Given the description of an element on the screen output the (x, y) to click on. 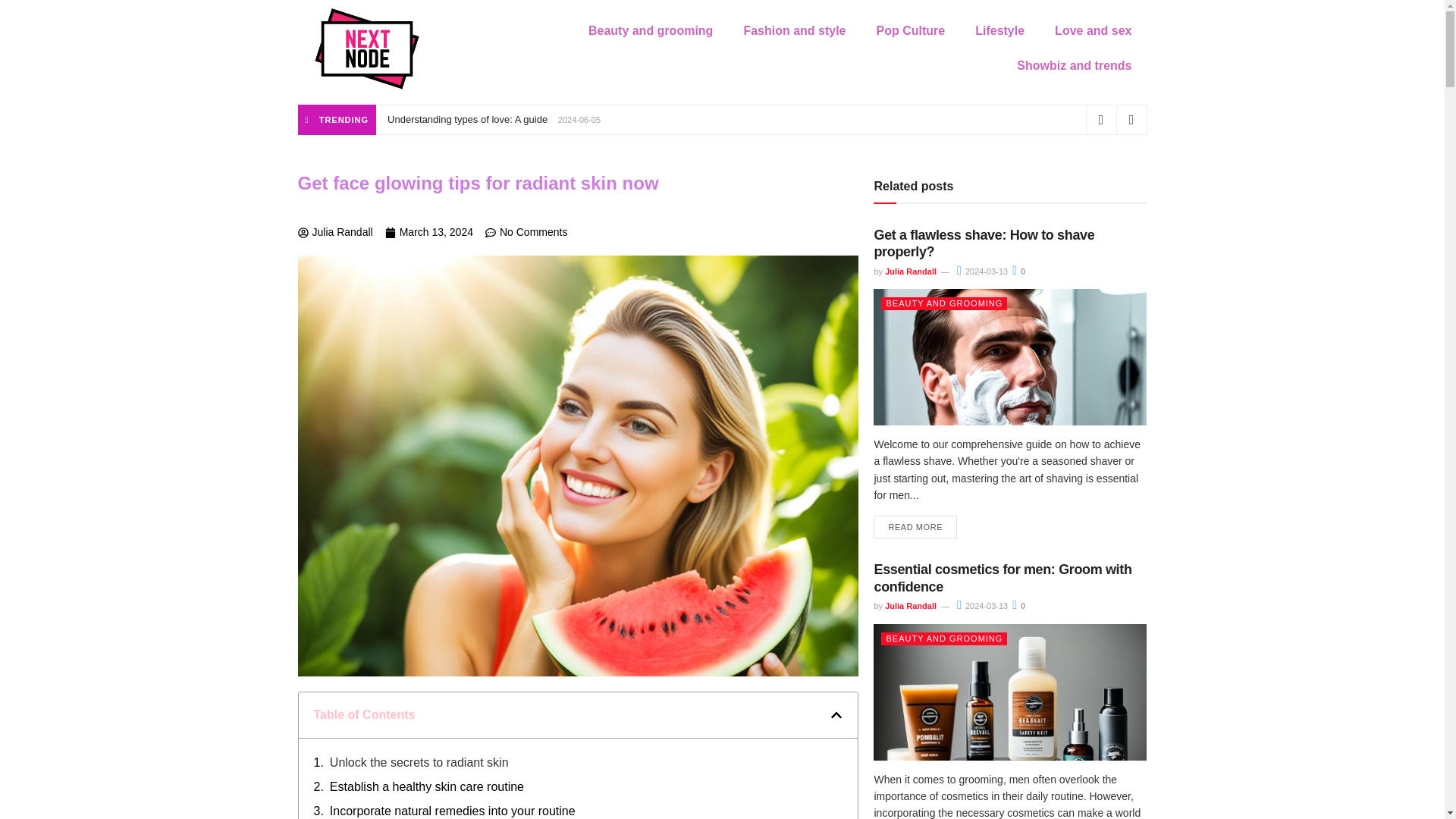
Beauty and grooming (650, 30)
Get a flawless shave: How to shave properly? (983, 243)
No Comments (525, 232)
Julia Randall (334, 232)
Pop Culture (910, 30)
Julia Randall (910, 605)
2024-03-13 (981, 605)
BEAUTY AND GROOMING (943, 303)
Showbiz and trends (1074, 65)
Julia Randall (910, 271)
2024-03-13 (981, 271)
Love and sex (1093, 30)
READ MORE (914, 526)
Lifestyle (999, 30)
March 13, 2024 (429, 232)
